Given the description of an element on the screen output the (x, y) to click on. 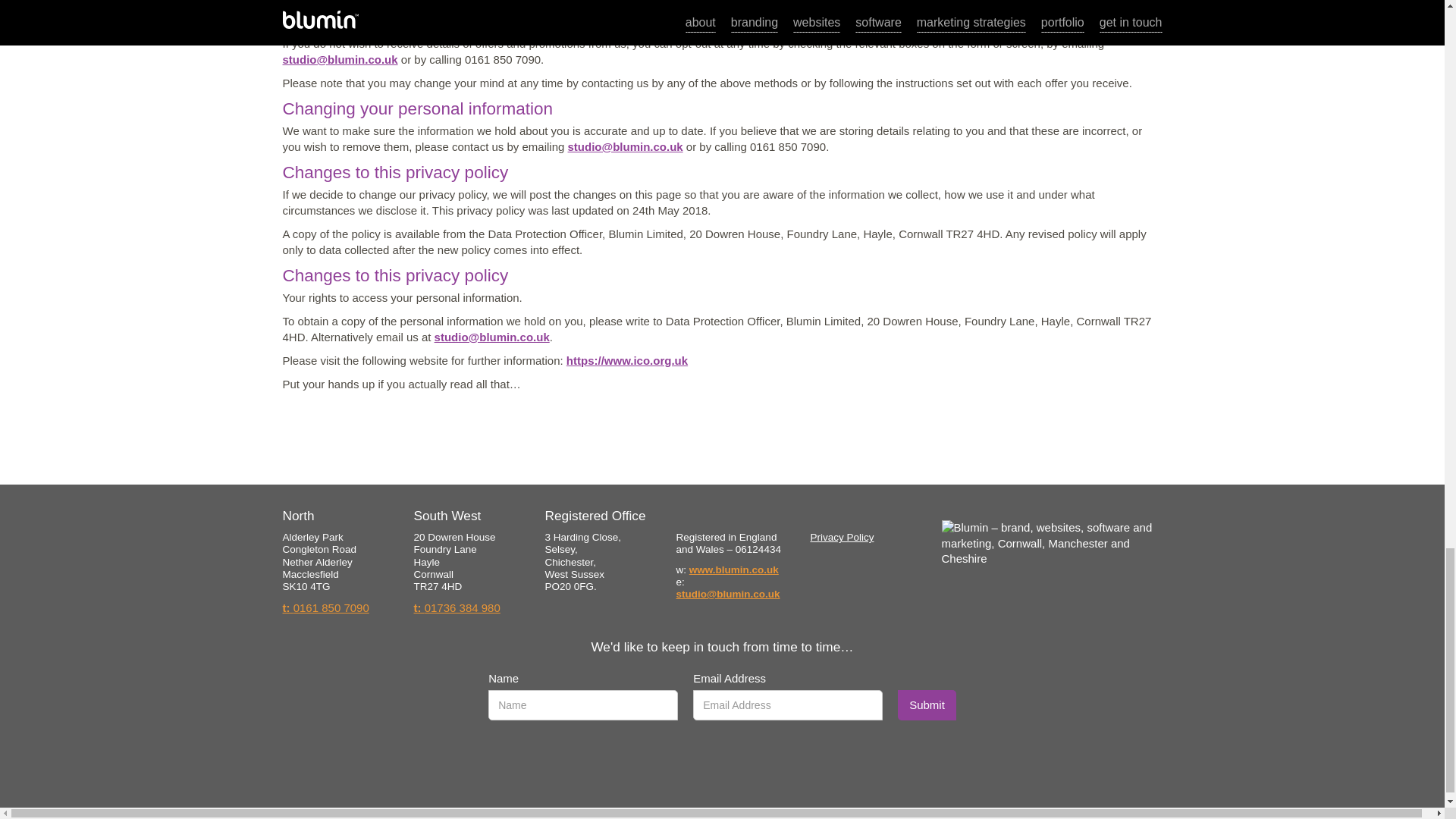
www.blumin.co.uk (733, 569)
Privacy Policy (841, 536)
t: 01736 384 980 (456, 607)
Submit (927, 705)
t: 0161 850 7090 (325, 607)
Submit (927, 705)
